Given the description of an element on the screen output the (x, y) to click on. 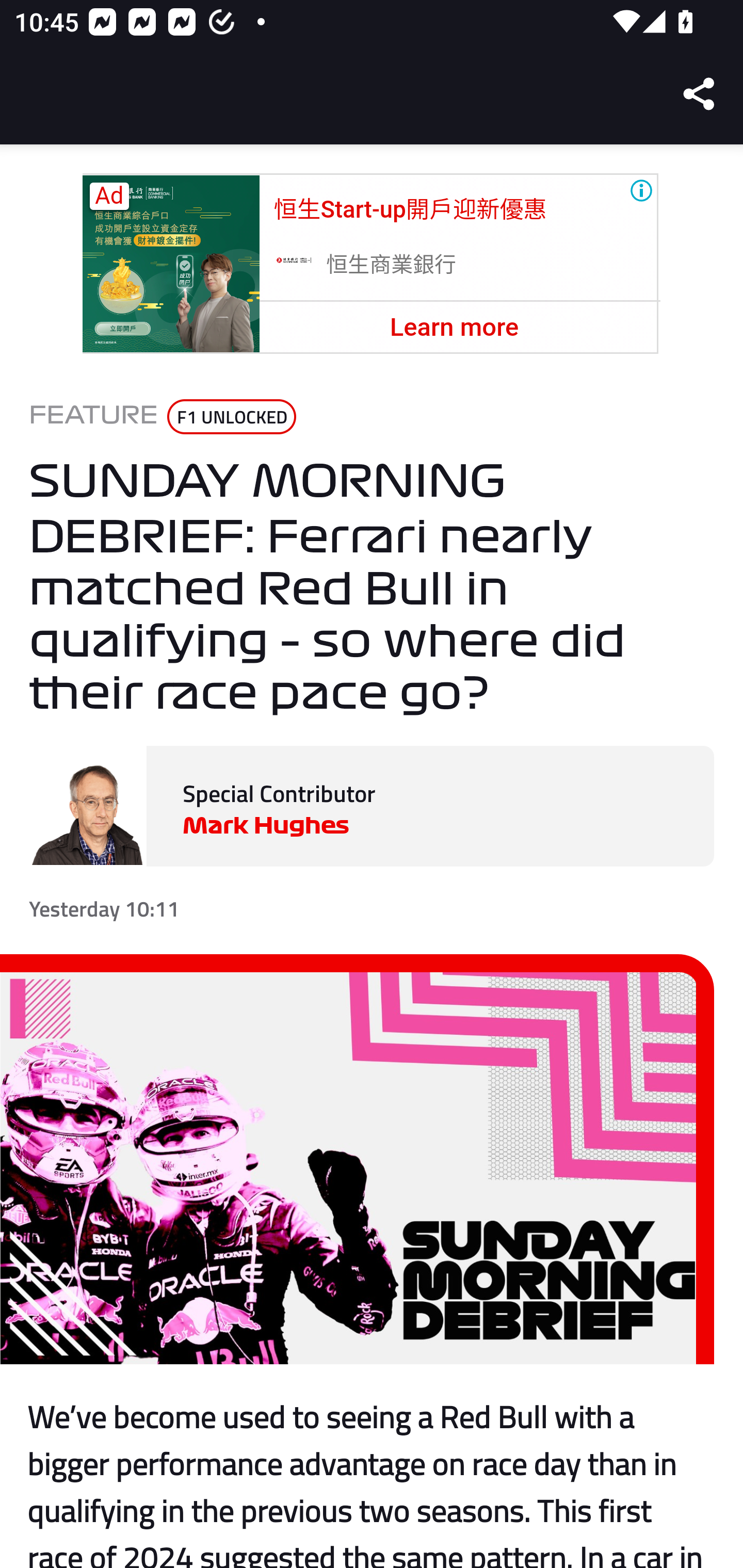
Share (699, 93)
index (171, 264)
恒生Start-up開戶迎新優惠 (409, 209)
index (293, 262)
恒生商業銀行 (392, 264)
Learn more (454, 327)
